Given the description of an element on the screen output the (x, y) to click on. 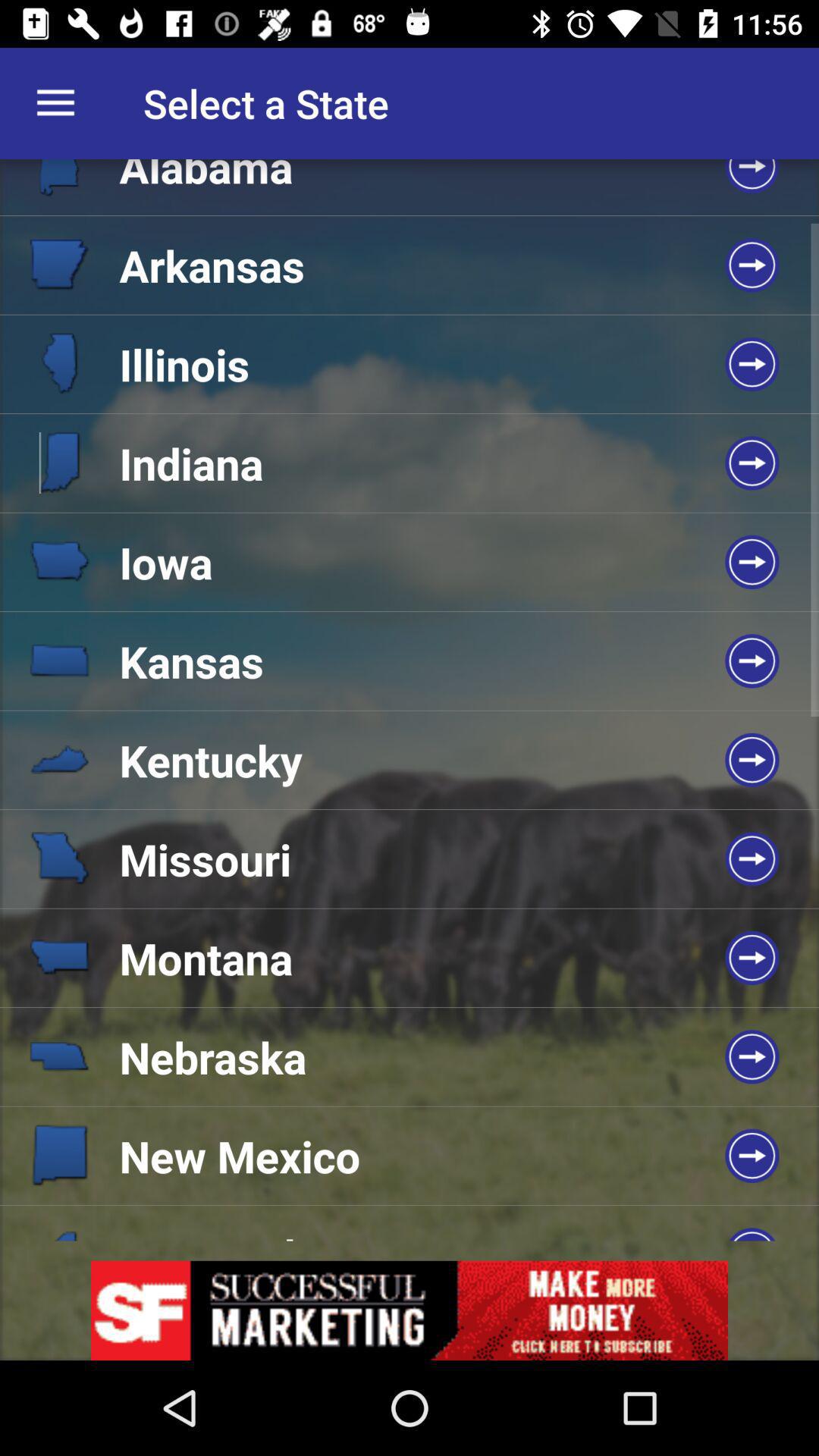
go to advertisement website (409, 1310)
